Given the description of an element on the screen output the (x, y) to click on. 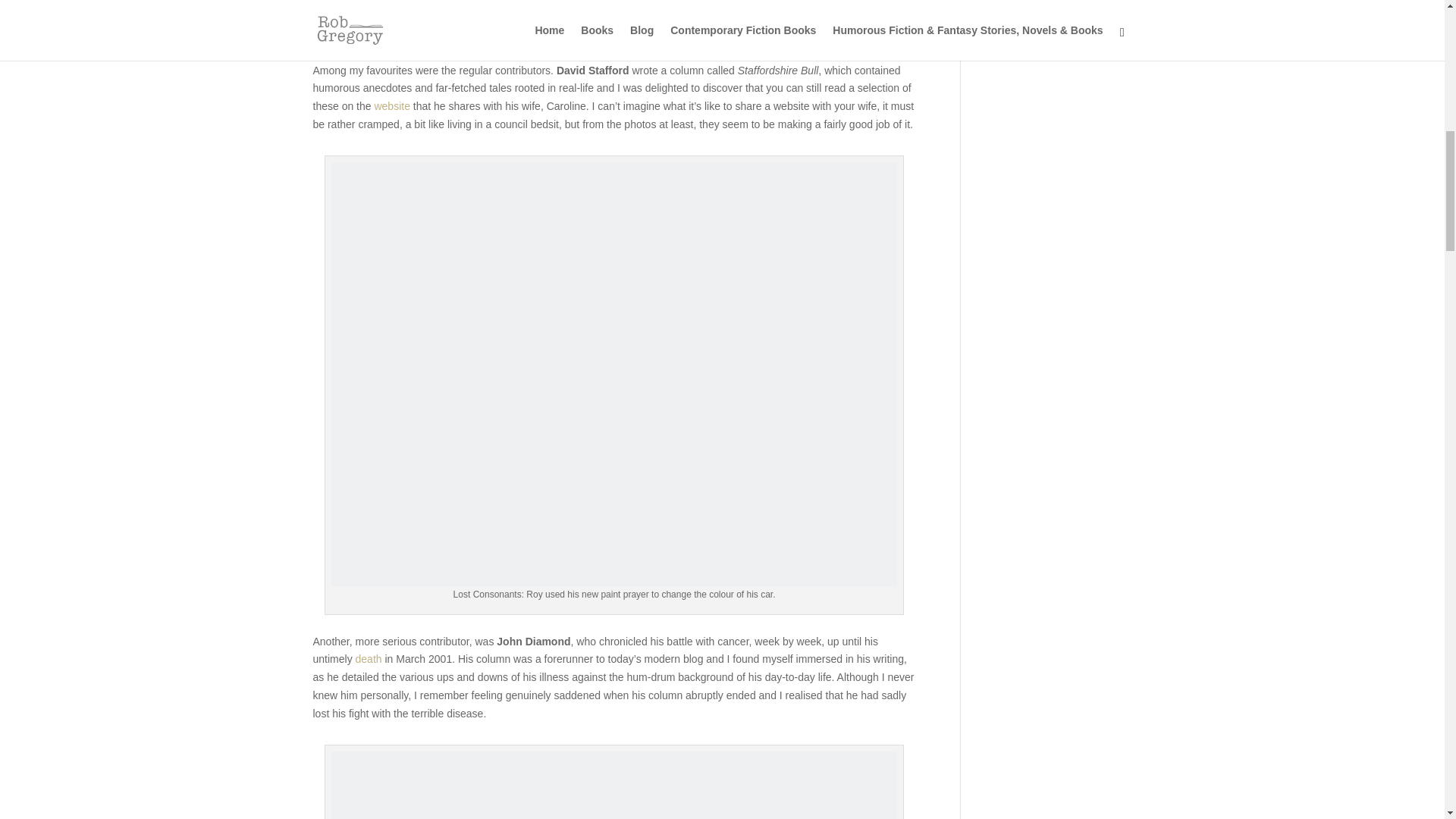
website (391, 105)
death (368, 658)
